Given the description of an element on the screen output the (x, y) to click on. 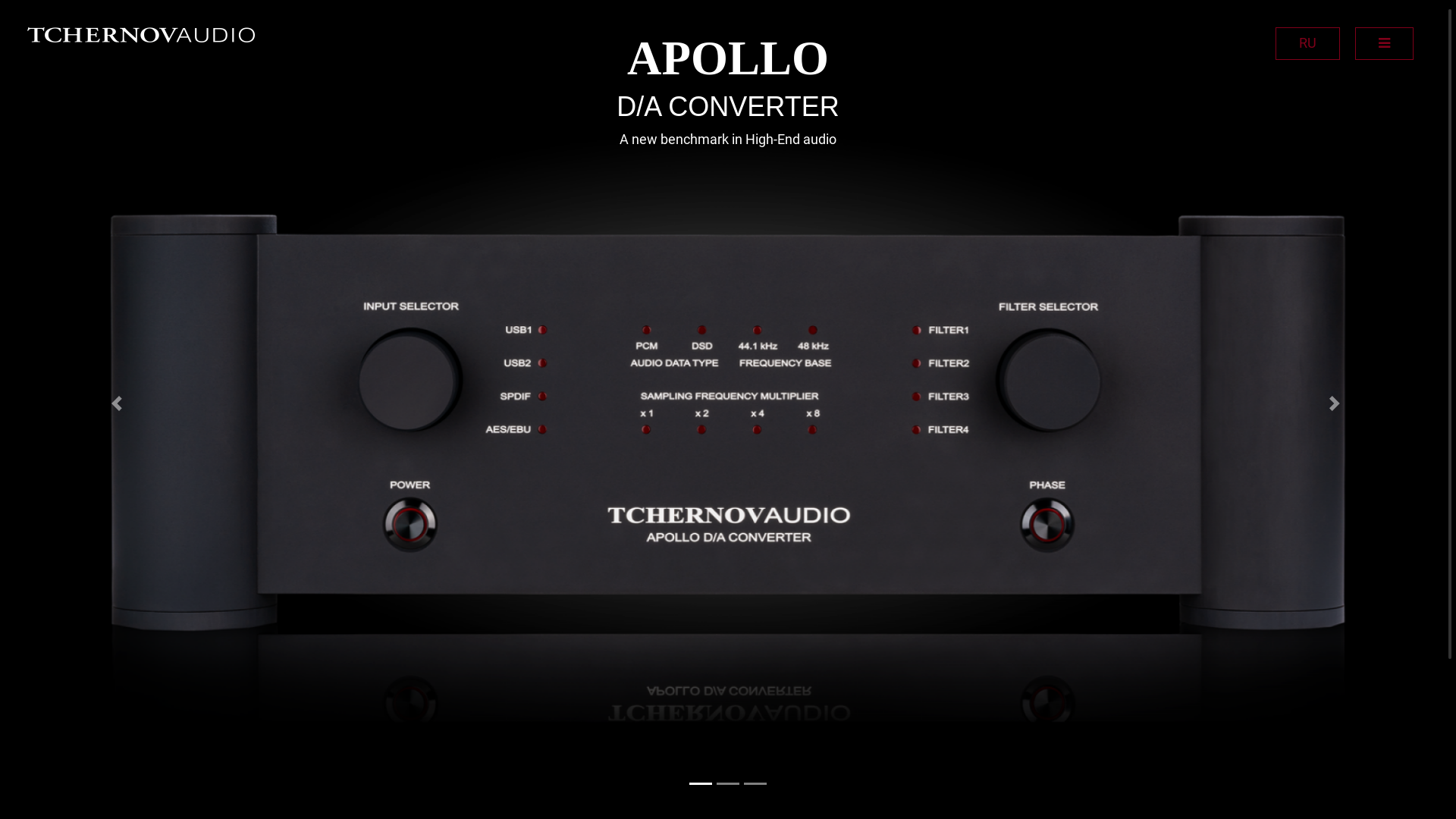
Previous Element type: text (118, 403)
RU Element type: text (1307, 43)
Next Element type: text (1337, 403)
